Given the description of an element on the screen output the (x, y) to click on. 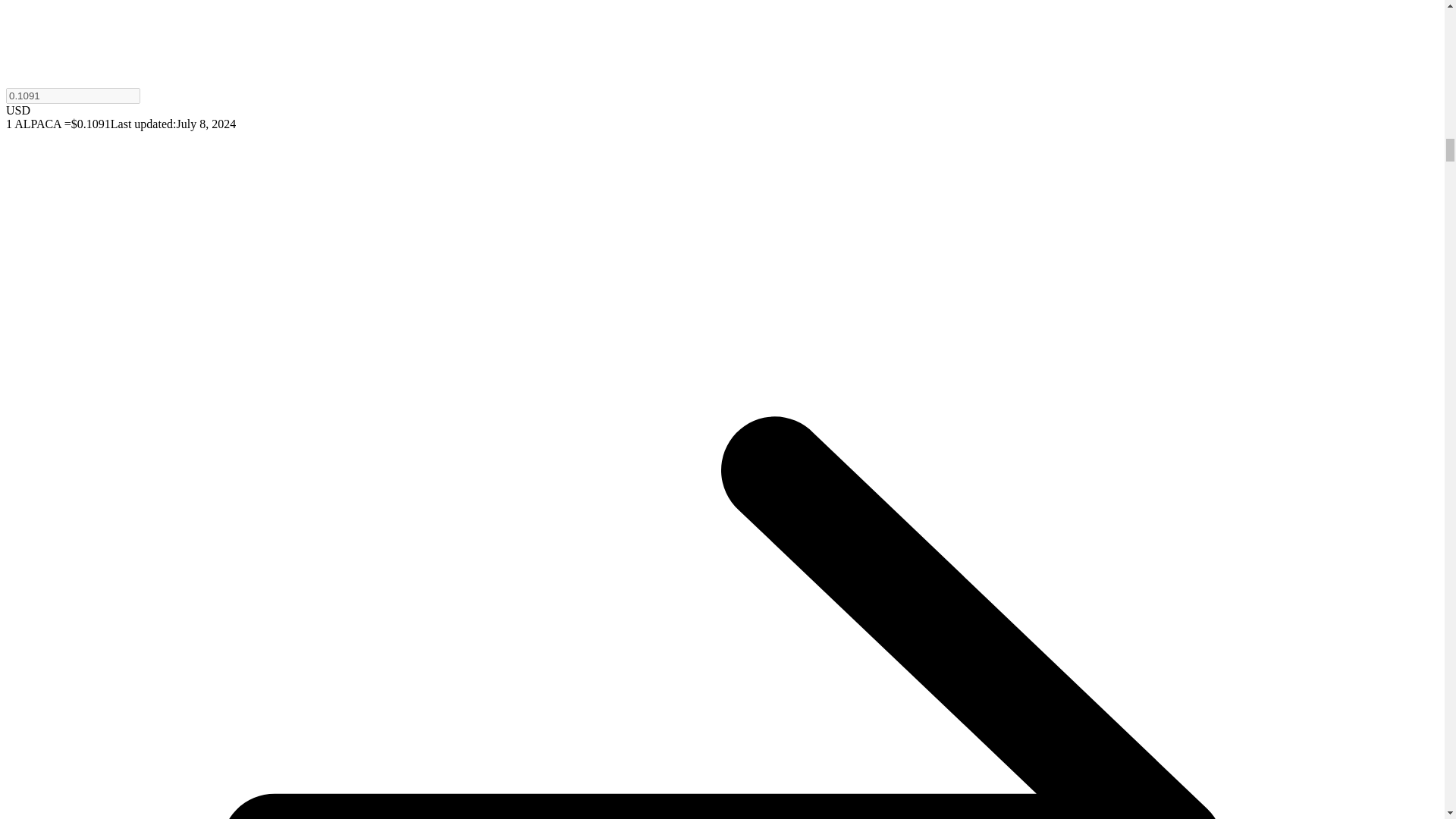
0.1091 (72, 95)
